Given the description of an element on the screen output the (x, y) to click on. 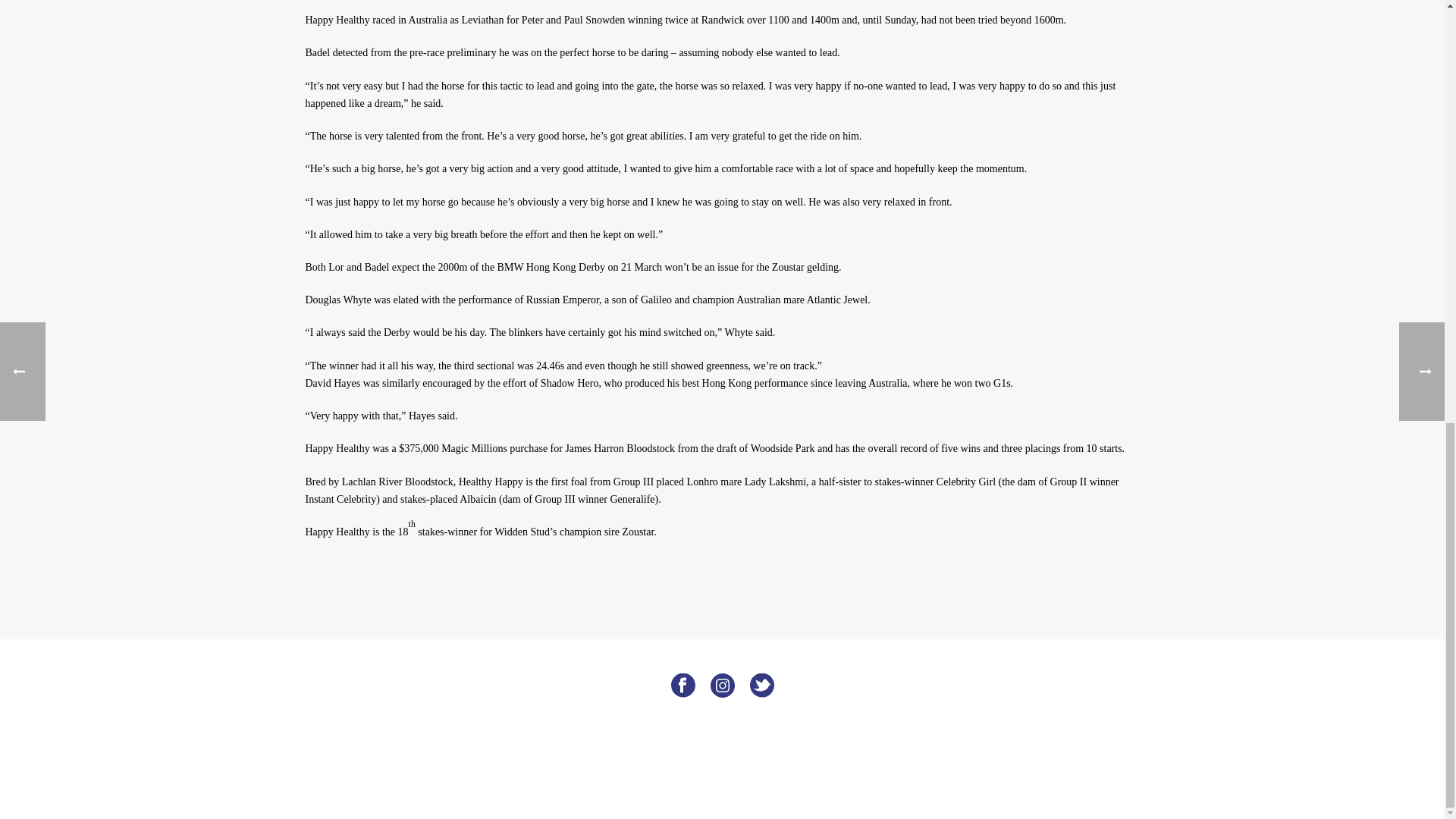
Follow Us on facebook (681, 686)
Follow Us on twitter (761, 686)
Follow Us on instagram (721, 686)
